Given the description of an element on the screen output the (x, y) to click on. 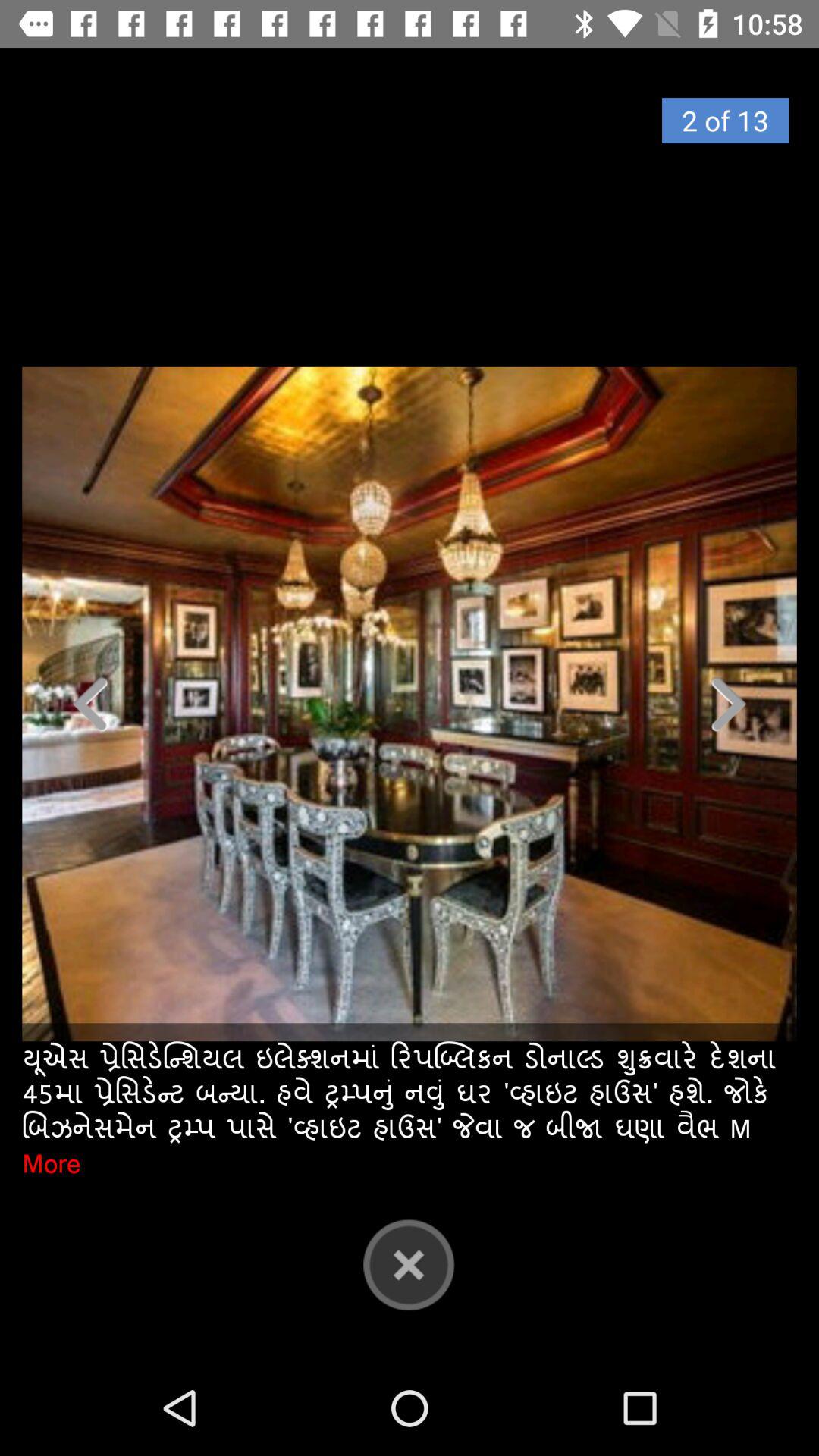
click for more info (409, 703)
